Given the description of an element on the screen output the (x, y) to click on. 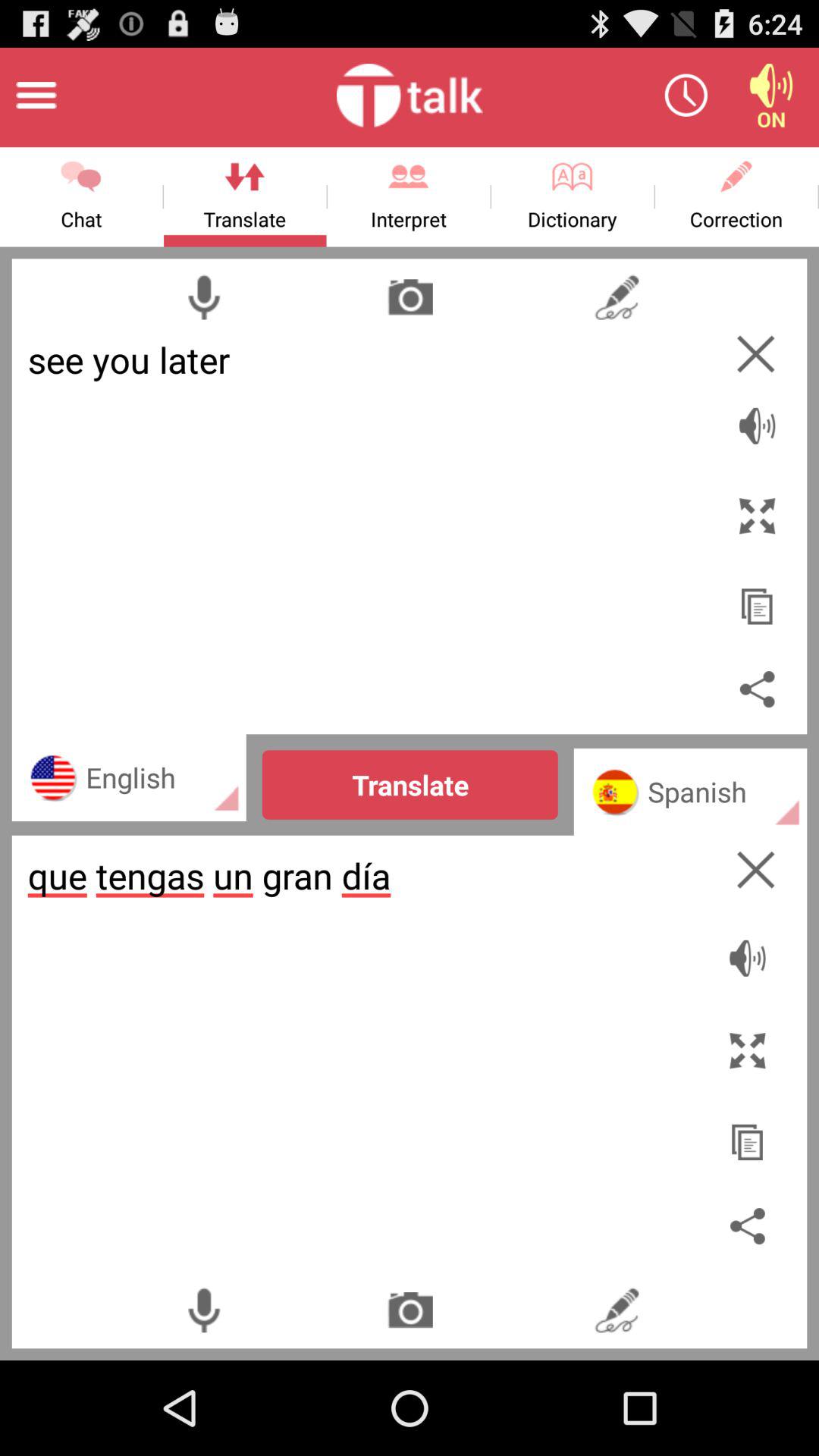
speak (757, 417)
